Given the description of an element on the screen output the (x, y) to click on. 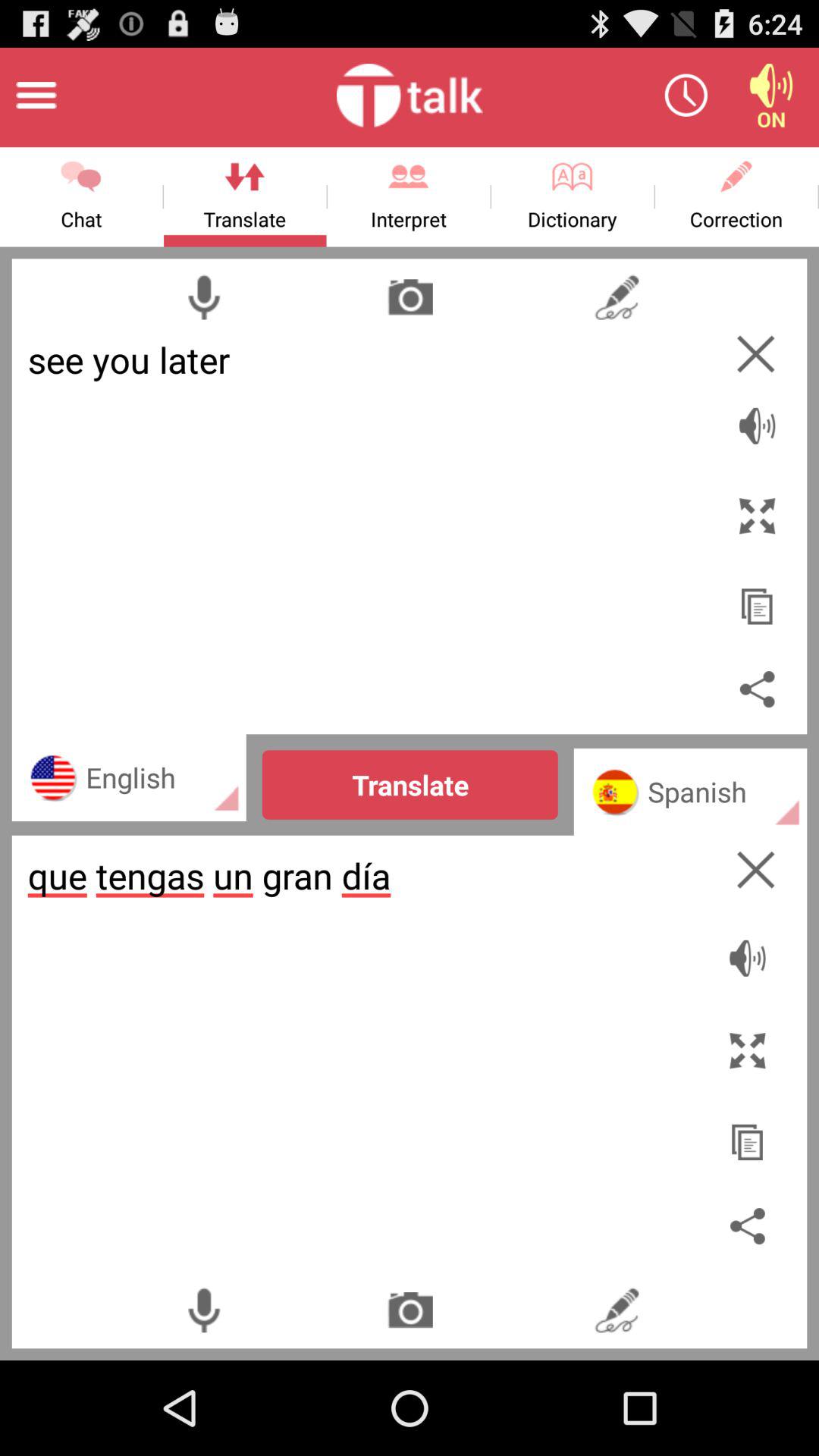
speak (757, 417)
